Given the description of an element on the screen output the (x, y) to click on. 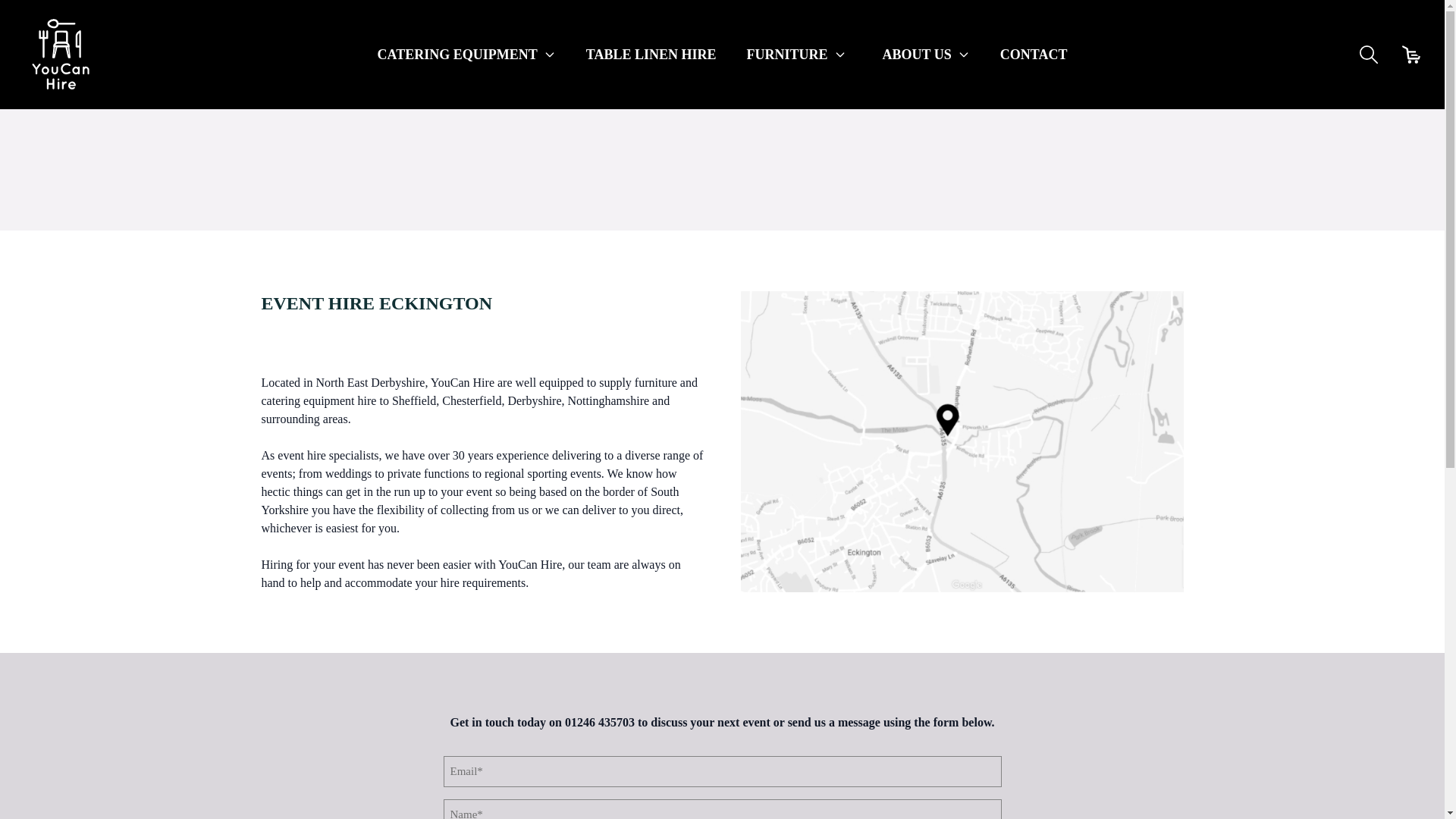
TABLE LINEN HIRE (651, 53)
CONTACT (1033, 53)
CATERING EQUIPMENT (466, 53)
ABOUT US (925, 53)
FURNITURE (795, 53)
